Given the description of an element on the screen output the (x, y) to click on. 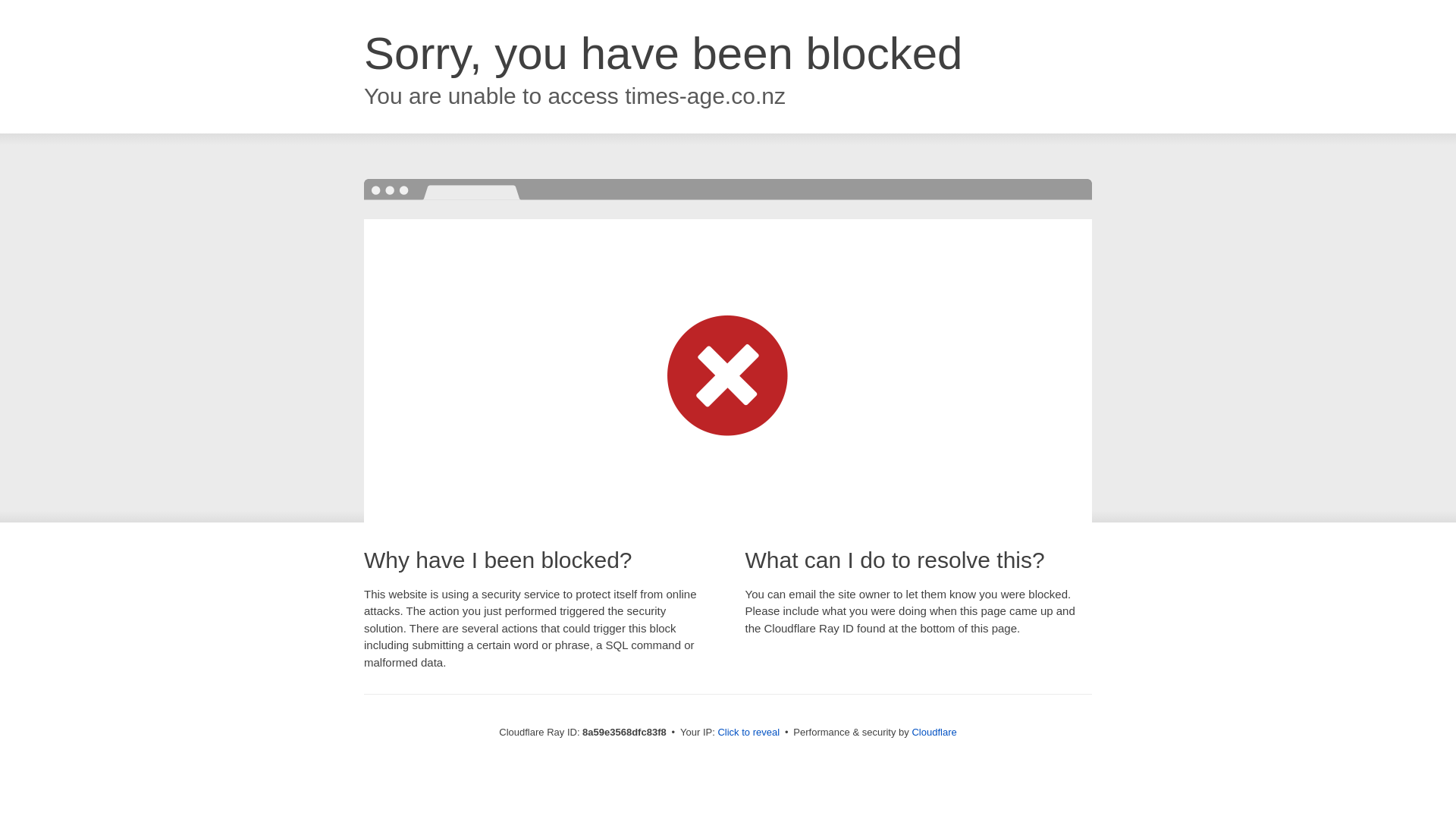
Click to reveal (747, 732)
Cloudflare (933, 731)
